Given the description of an element on the screen output the (x, y) to click on. 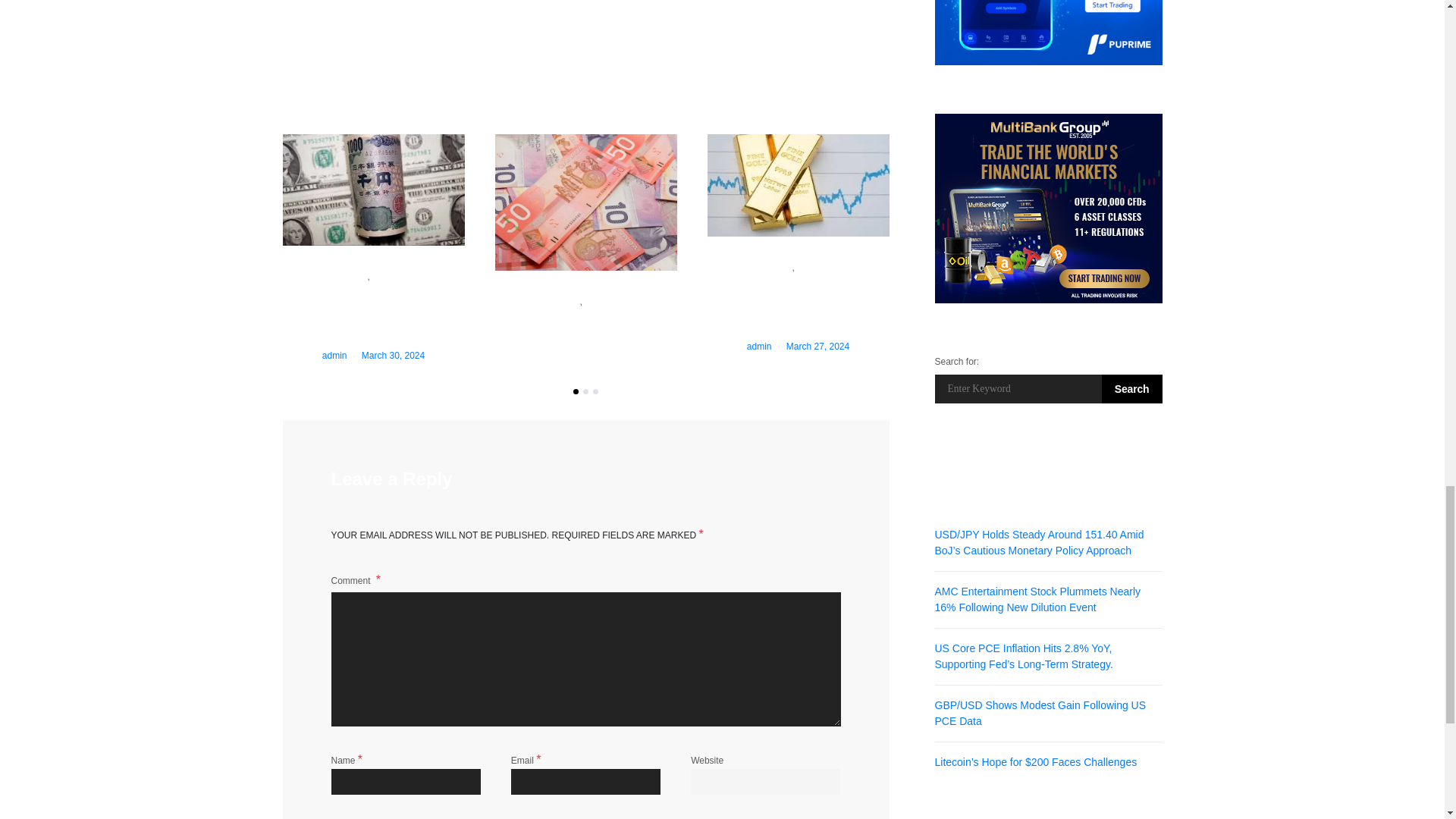
View all posts by admin (334, 355)
View all posts by admin (758, 346)
